Given the description of an element on the screen output the (x, y) to click on. 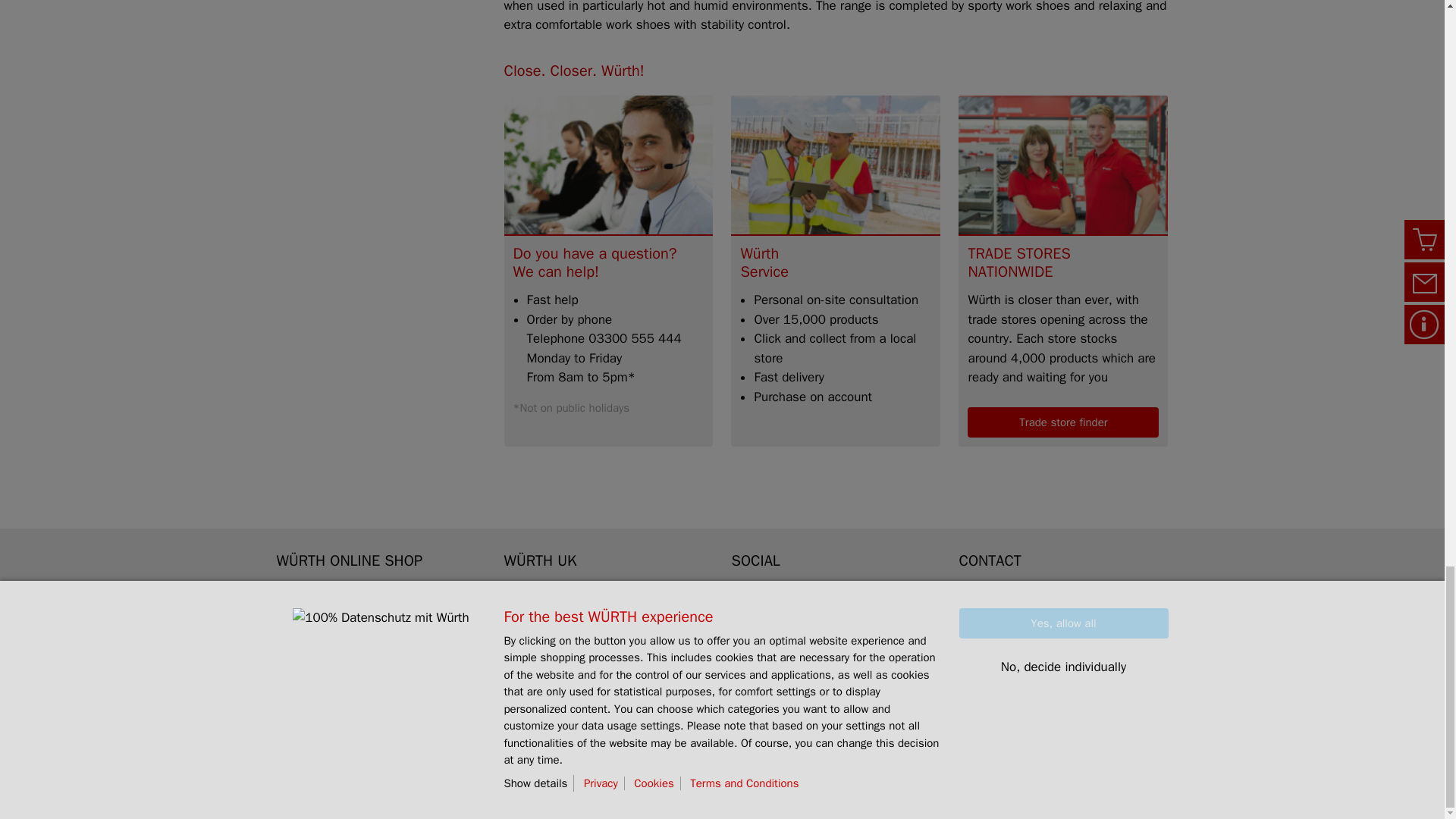
Bild 1 (1062, 164)
Frequently Asked Questions (354, 667)
Bild 1 (608, 164)
Register as a New Customer (356, 616)
Bild 1 (835, 164)
Register as Existing Customer (360, 641)
Forgot your password? (339, 590)
